Given the description of an element on the screen output the (x, y) to click on. 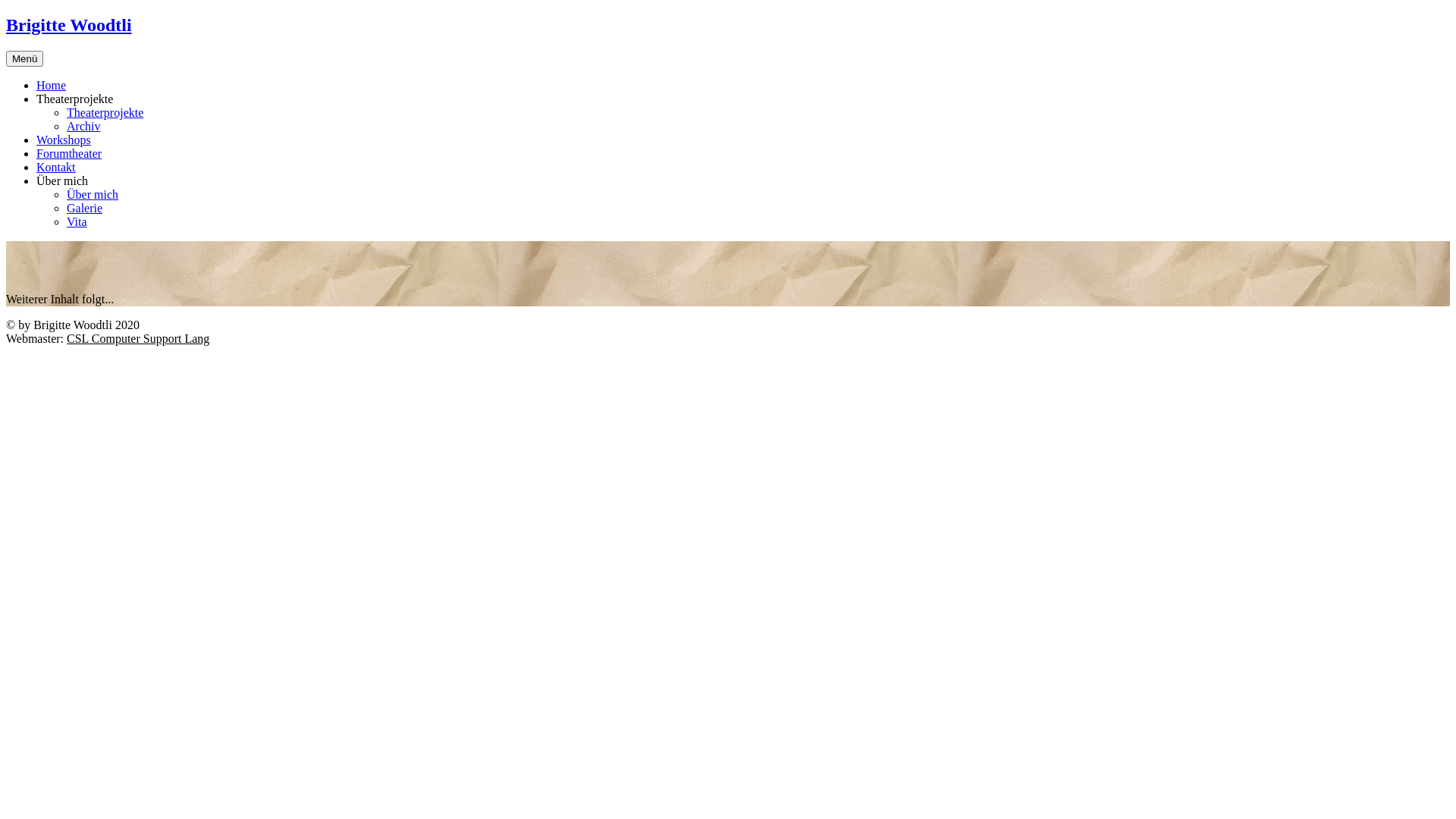
Brigitte Woodtli Element type: text (68, 24)
Galerie Element type: text (84, 207)
Workshops Element type: text (63, 139)
Vita Element type: text (76, 221)
Kontakt Element type: text (55, 166)
CSL Computer Support Lang Element type: text (137, 338)
Forumtheater Element type: text (68, 153)
Home Element type: text (50, 84)
Archiv Element type: text (83, 125)
Theaterprojekte Element type: text (104, 112)
